Given the description of an element on the screen output the (x, y) to click on. 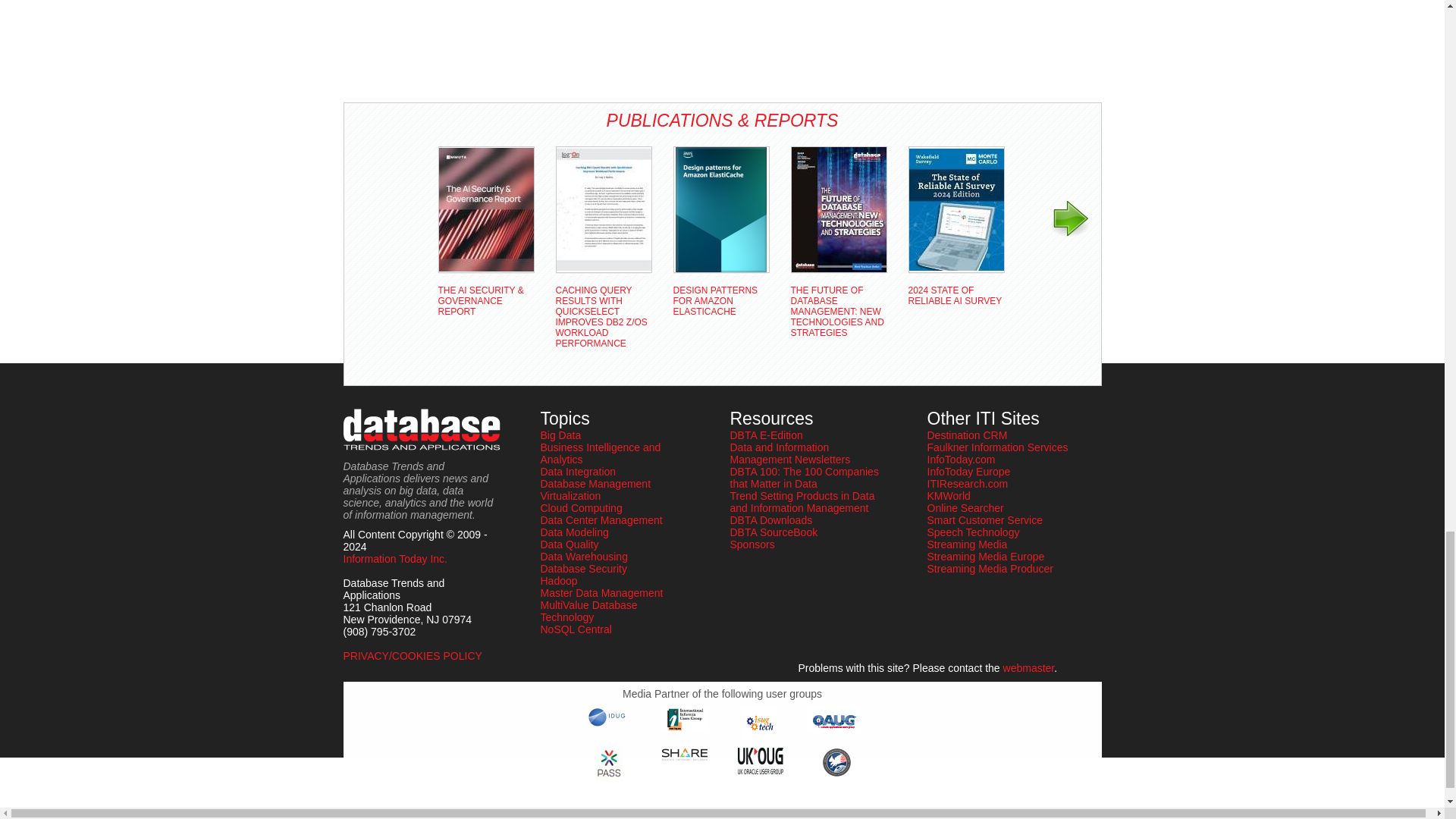
3rd party ad content (403, 46)
